Given the description of an element on the screen output the (x, y) to click on. 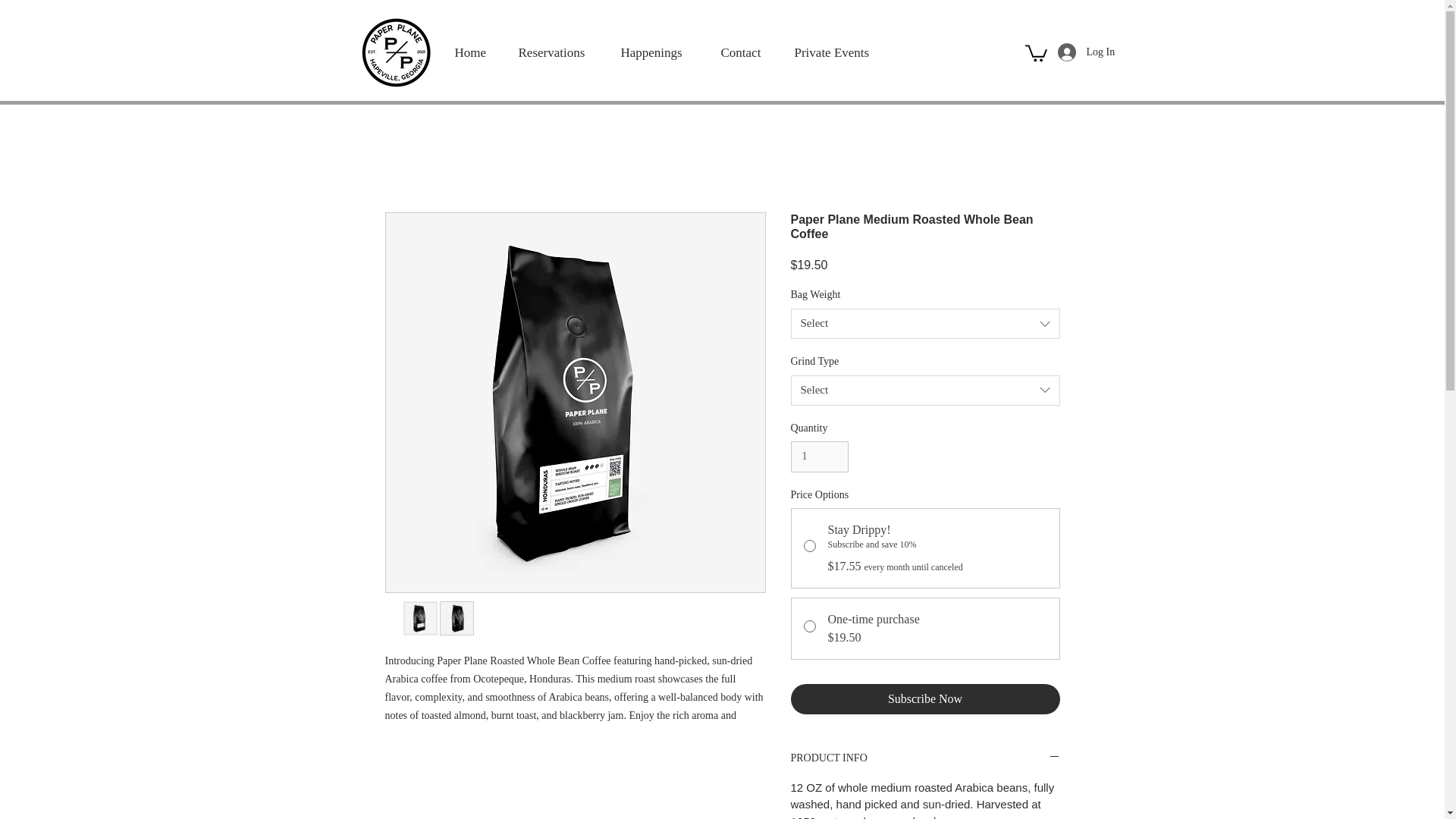
PRODUCT INFO (924, 758)
Select (924, 389)
Private Events (834, 52)
Contact (744, 52)
Happenings (657, 52)
1 (818, 456)
Select (924, 323)
Subscribe Now (924, 698)
Log In (1069, 52)
